Given the description of an element on the screen output the (x, y) to click on. 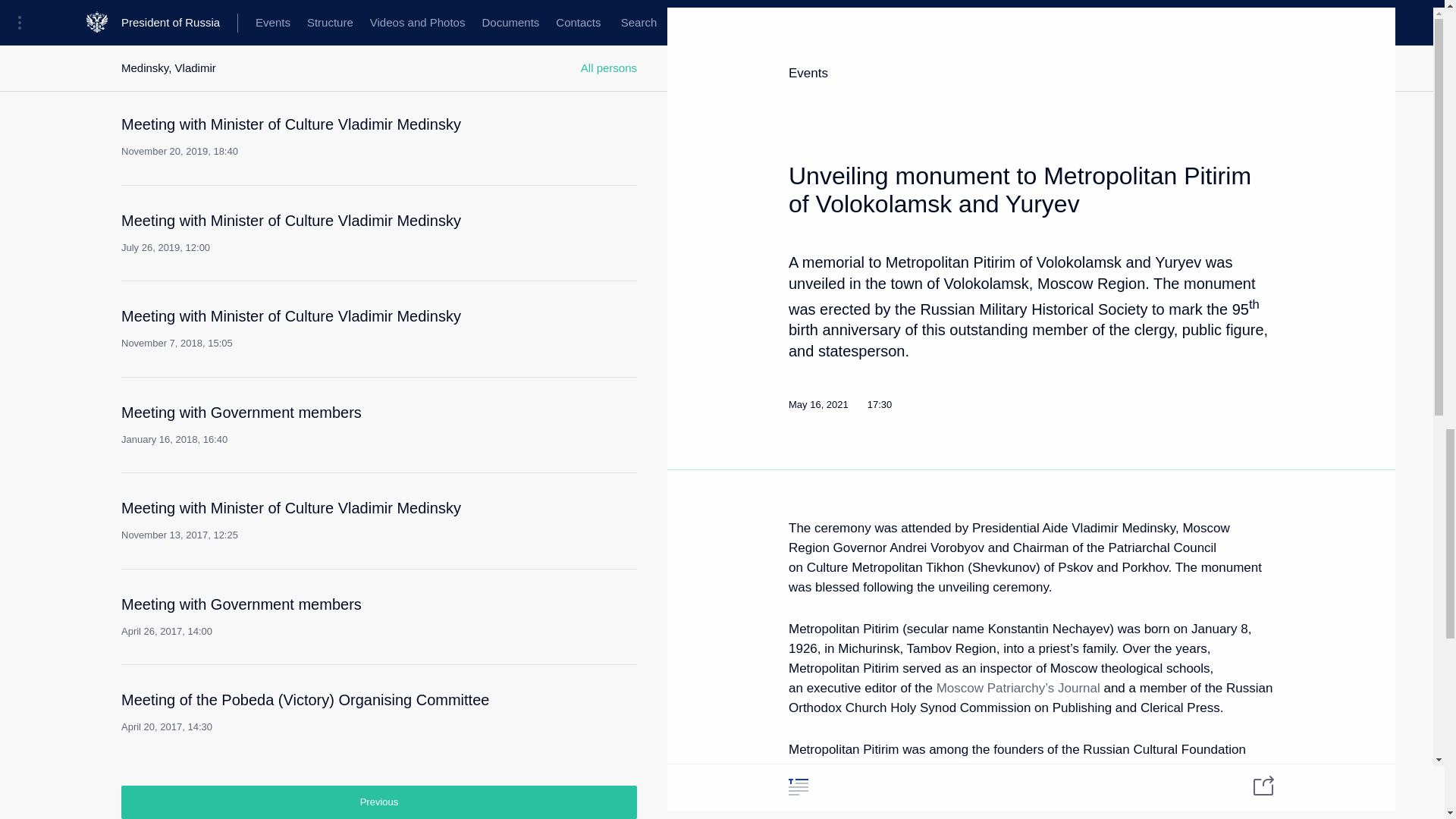
Previous (321, 424)
